Given the description of an element on the screen output the (x, y) to click on. 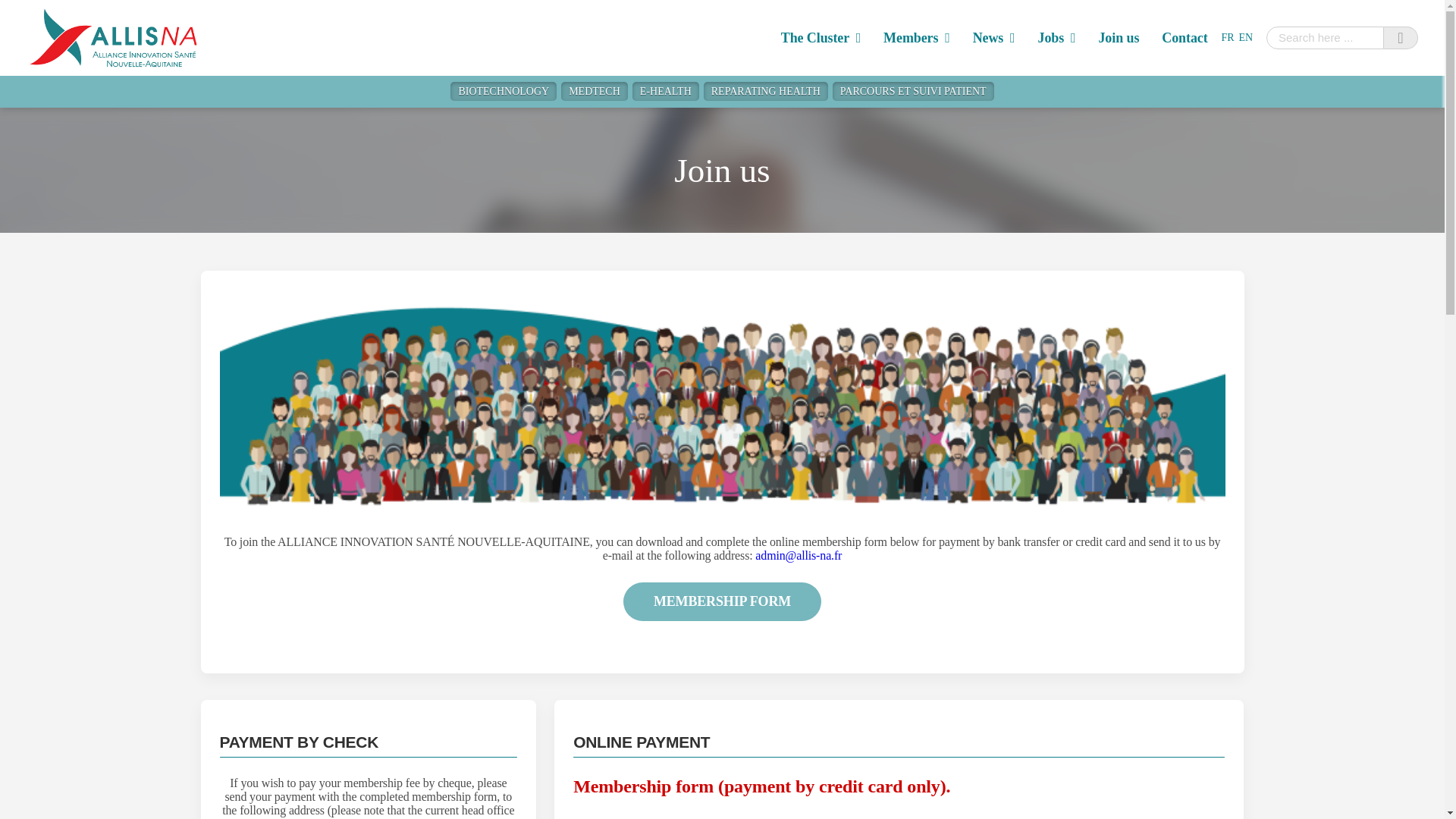
Join us (1117, 37)
E-HEALTH (664, 90)
Jobs   (1056, 37)
News   (993, 37)
PARCOURS ET SUIVI PATIENT (913, 90)
The Cluster   (820, 37)
FR (1227, 37)
EN (1245, 37)
REPARATING HEALTH (765, 90)
BIOTECHNOLOGY (502, 90)
